Given the description of an element on the screen output the (x, y) to click on. 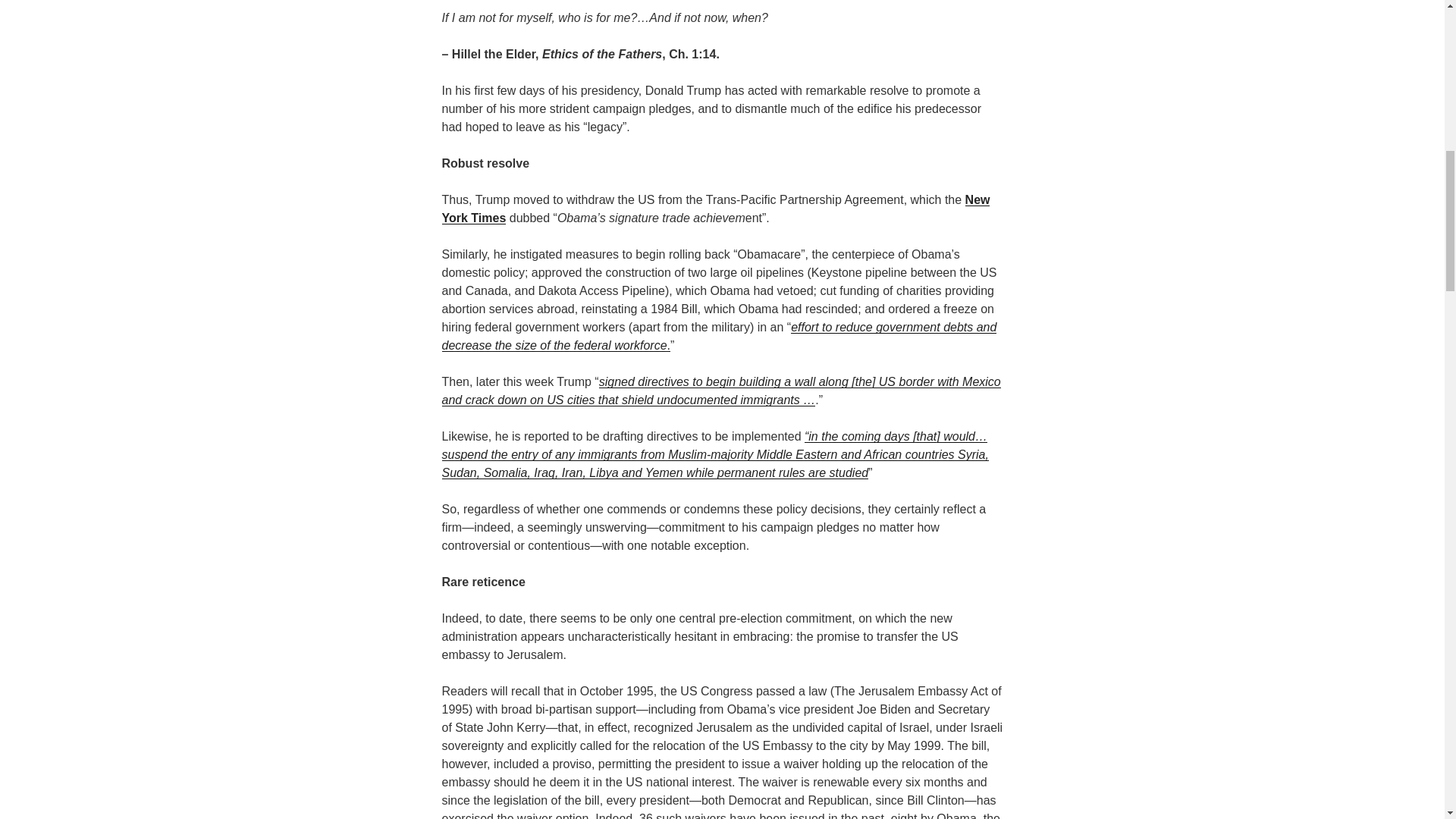
New York Times (715, 207)
